Given the description of an element on the screen output the (x, y) to click on. 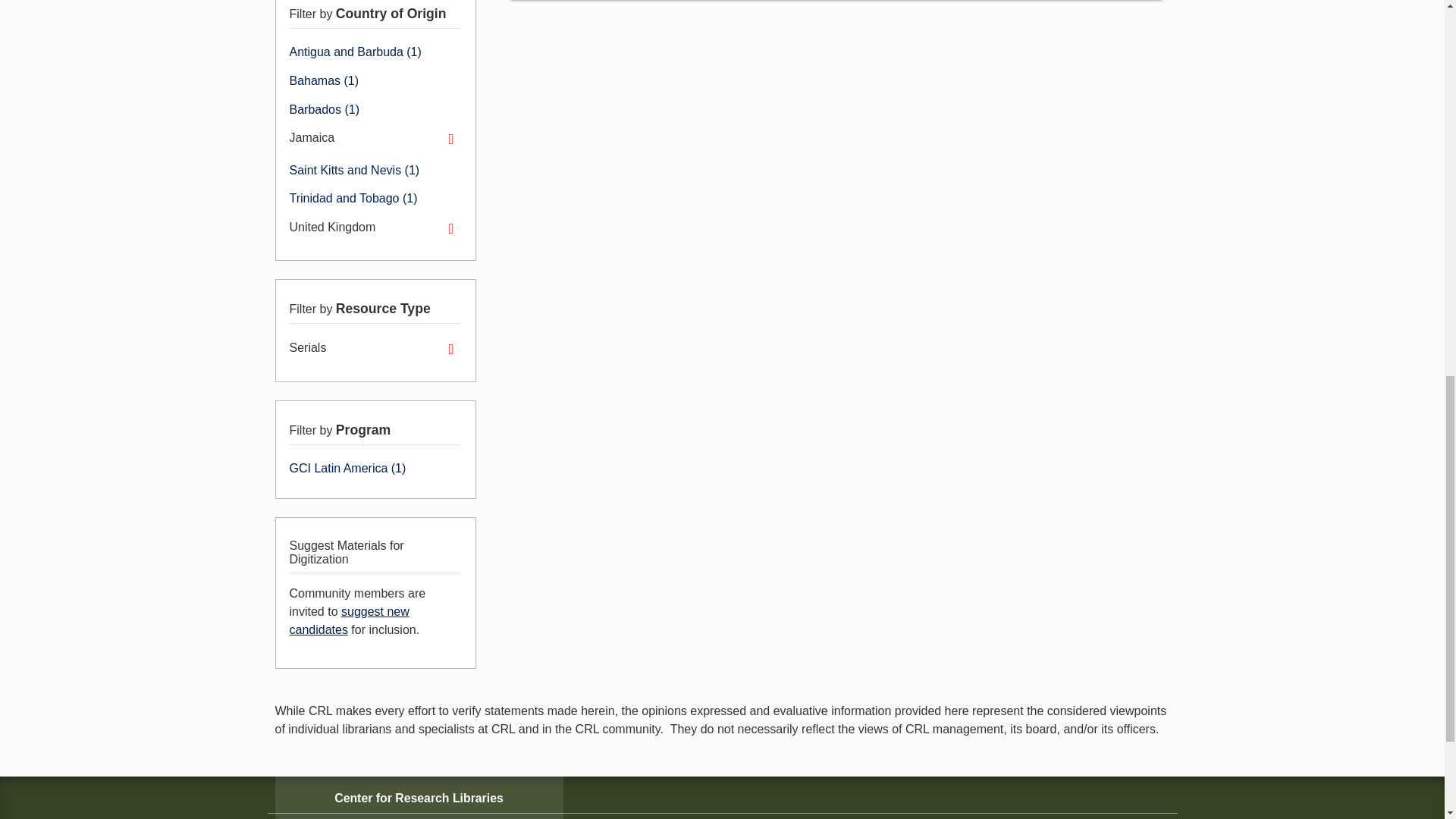
suggest new candidates (349, 620)
Center for Research Libraries (418, 797)
